Given the description of an element on the screen output the (x, y) to click on. 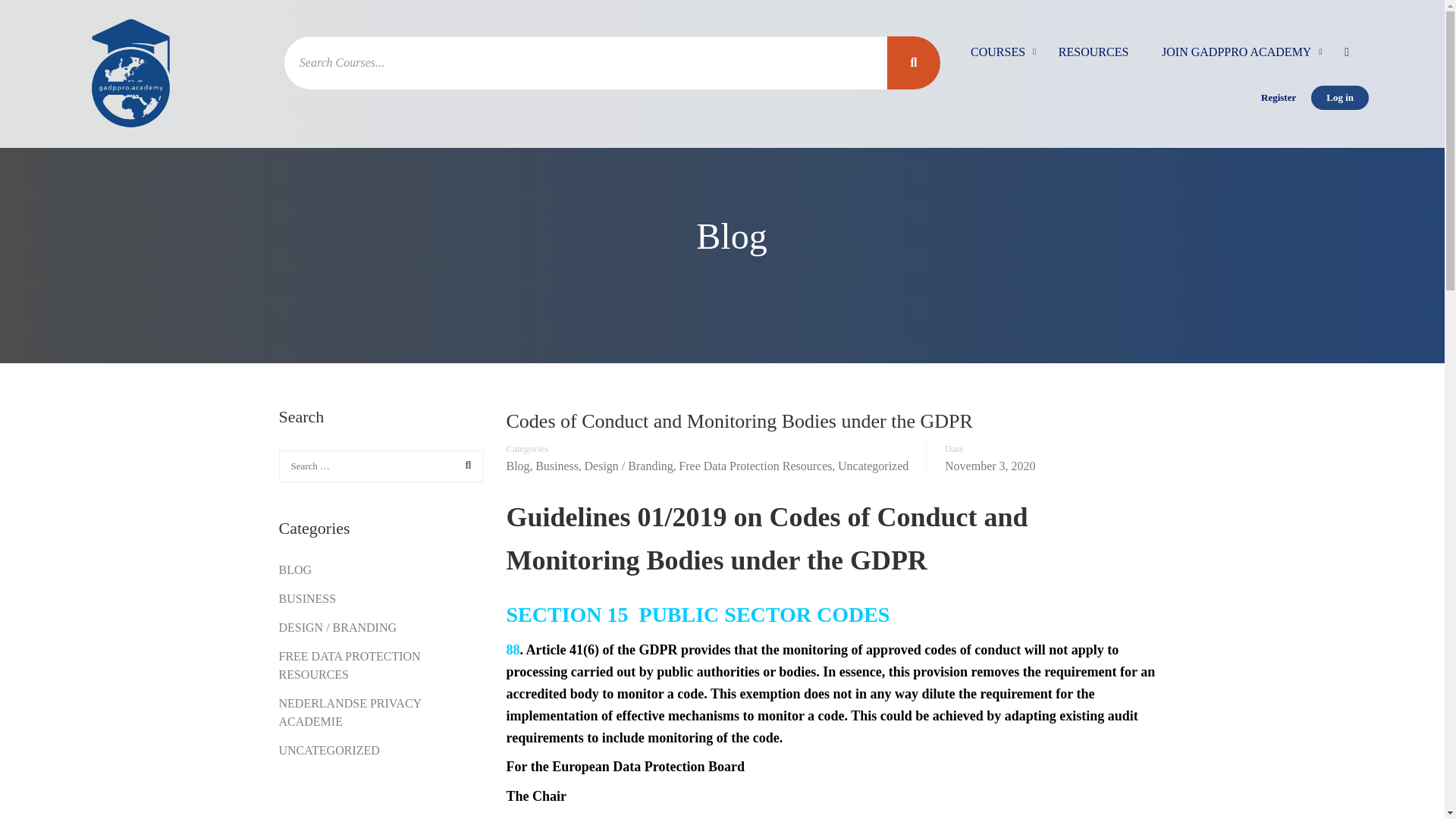
Log in (1339, 96)
Uncategorized (873, 466)
JOIN GADPPRO ACADEMY (1236, 58)
Register (1278, 96)
Blog (517, 466)
COURSES (998, 58)
Free Data Protection Resources (754, 466)
Search (464, 465)
Business (556, 466)
Search (464, 465)
